Given the description of an element on the screen output the (x, y) to click on. 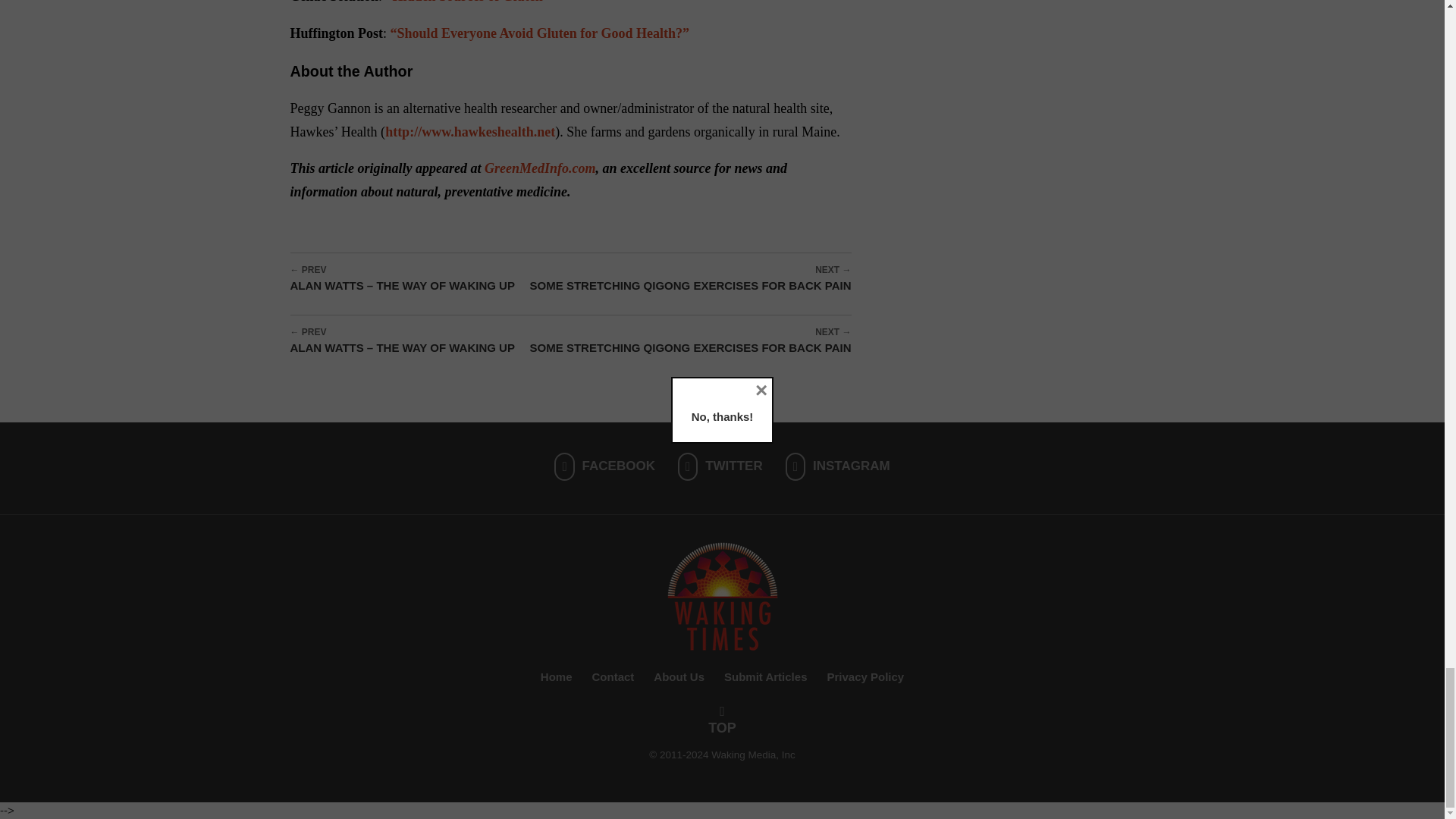
Waking Times (721, 595)
GreenMedInfo.com (539, 168)
